Given the description of an element on the screen output the (x, y) to click on. 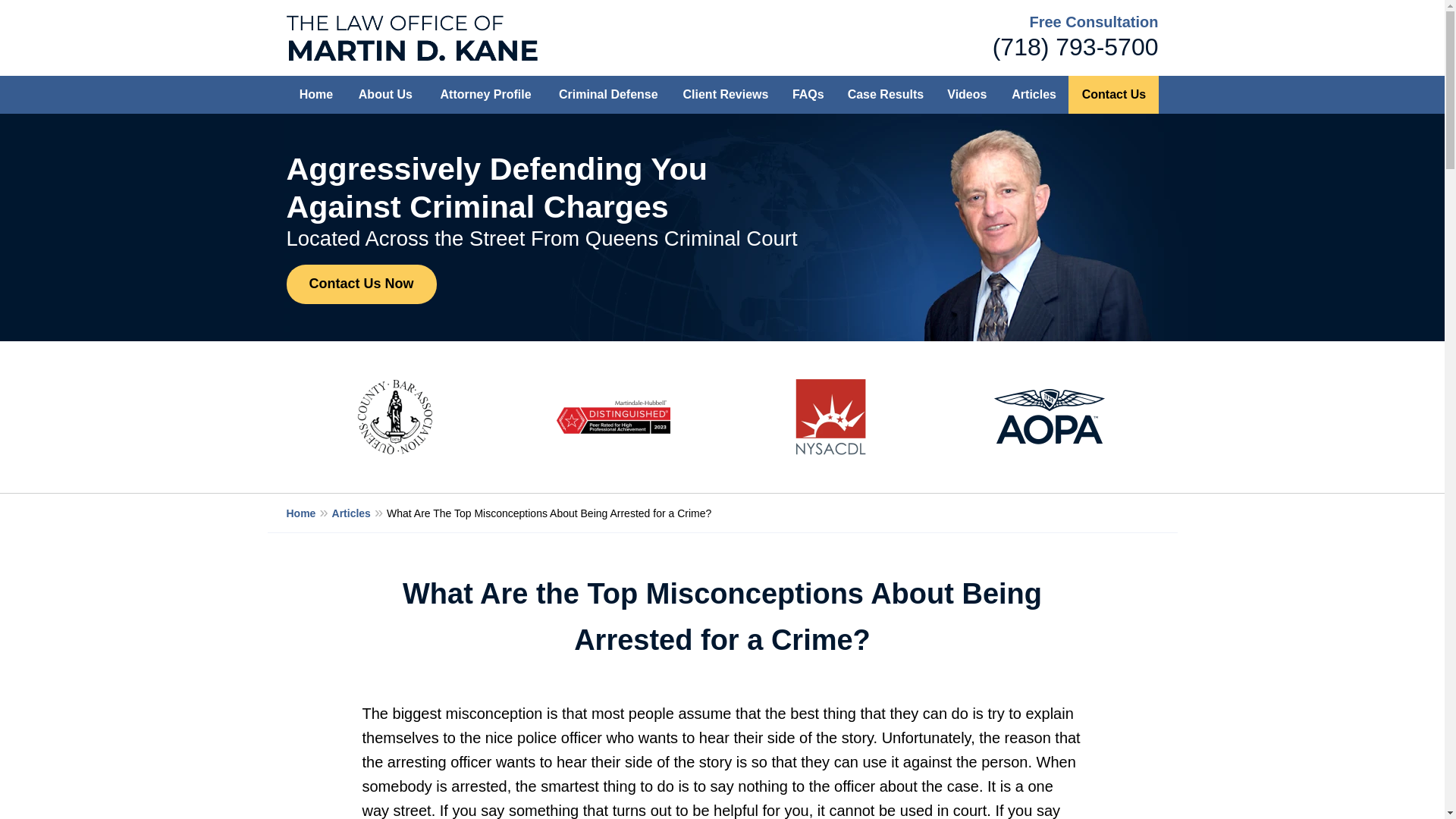
Home (308, 513)
Case Results (885, 94)
Contact Us Now (361, 283)
Articles (1033, 94)
Home (316, 94)
Attorney Profile (486, 94)
Articles (359, 513)
About Us (385, 94)
Videos (966, 94)
Client Reviews (724, 94)
Criminal Defense (608, 94)
FAQs (807, 94)
Free Consultation (1093, 21)
Contact Us (1113, 94)
